Given the description of an element on the screen output the (x, y) to click on. 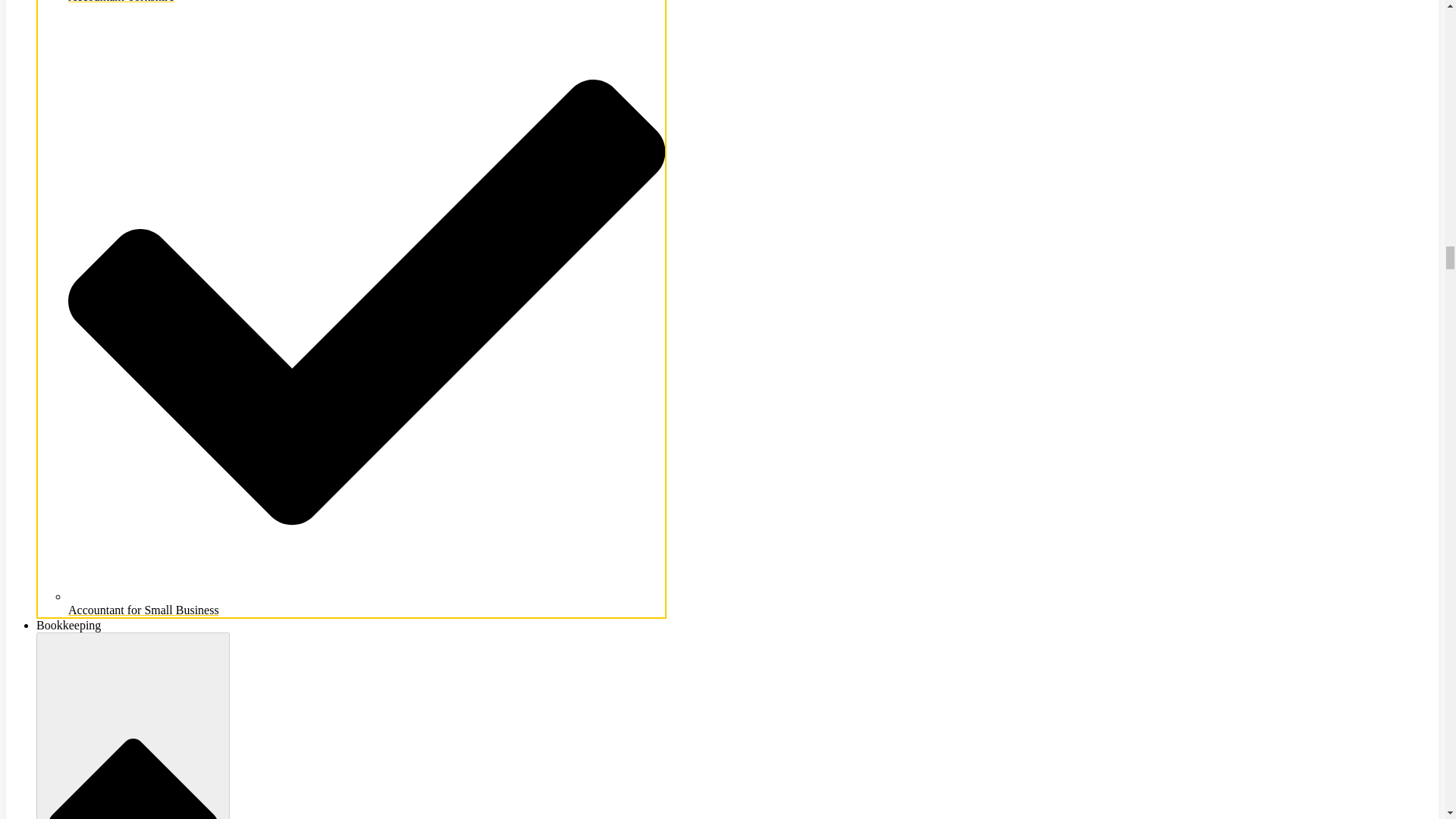
Close Bookkeeping Open Bookkeeping (133, 725)
Accountant for Small Business (366, 602)
